Given the description of an element on the screen output the (x, y) to click on. 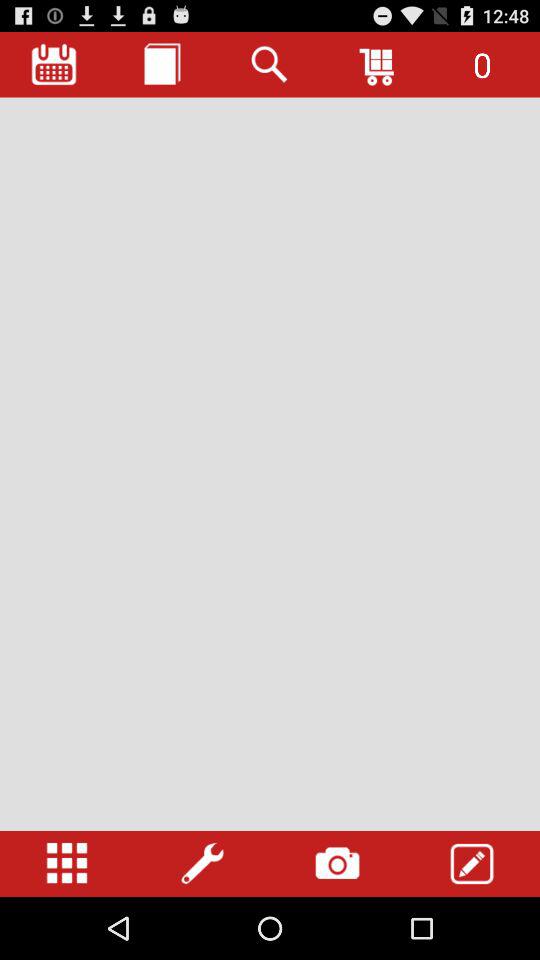
search (270, 64)
